Given the description of an element on the screen output the (x, y) to click on. 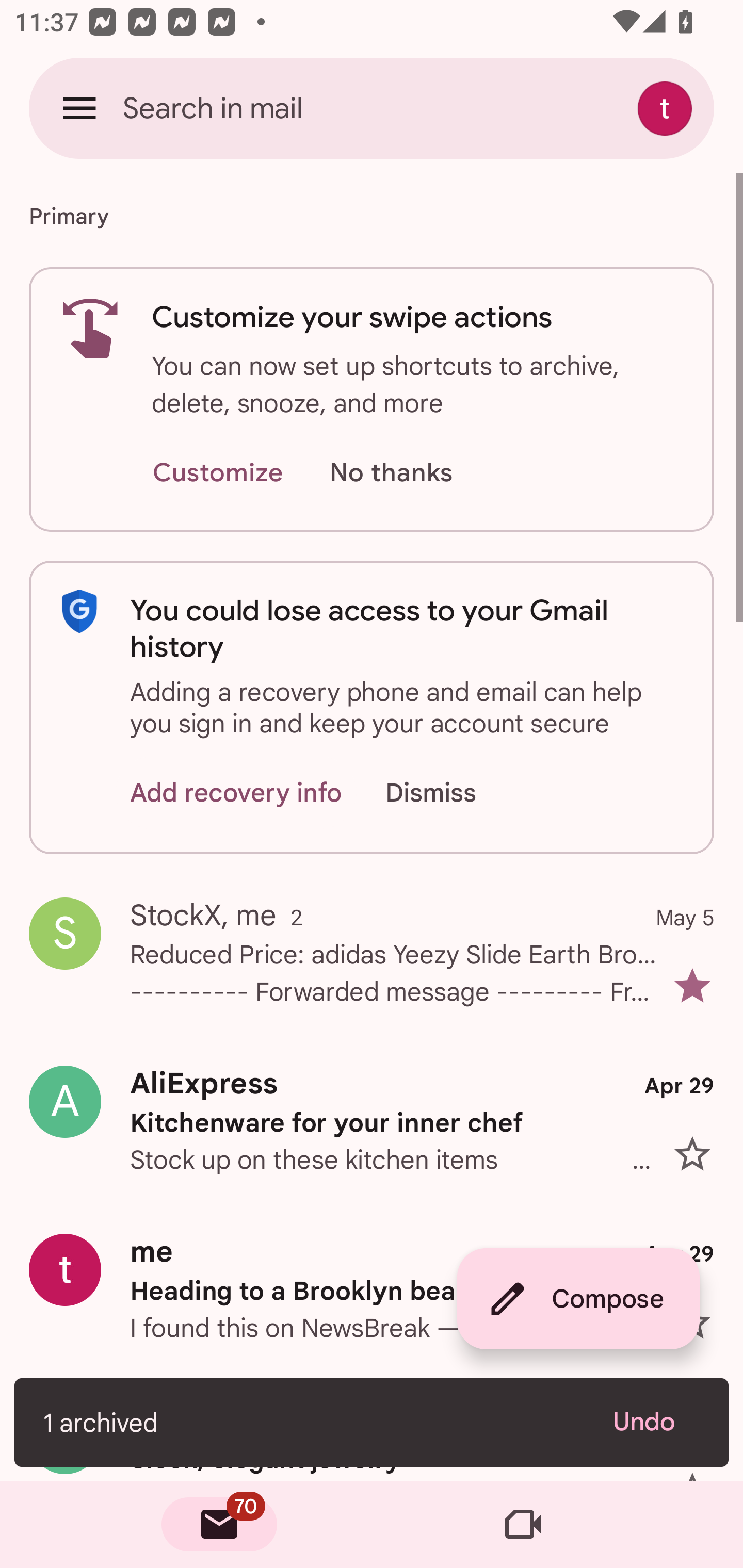
Open navigation drawer (79, 108)
Customize (217, 473)
No thanks (390, 473)
Add recovery info (235, 792)
Dismiss (449, 792)
Compose (577, 1299)
Undo (655, 1422)
Meet (523, 1524)
